Given the description of an element on the screen output the (x, y) to click on. 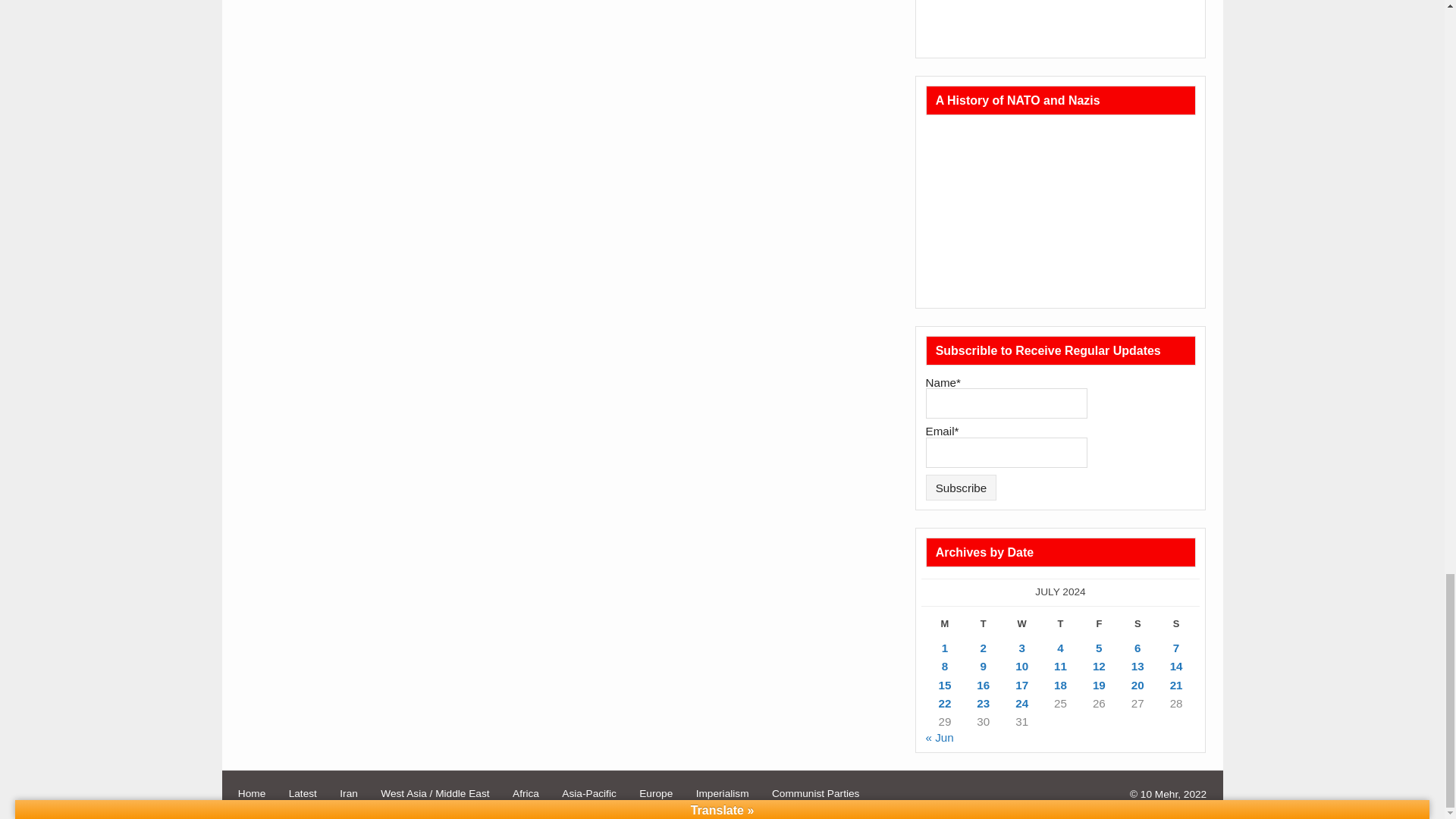
Subscribe (961, 487)
Sunday (1176, 627)
Friday (1099, 627)
Wednesday (1022, 627)
12 (1099, 666)
10 (1020, 666)
Thursday (1060, 627)
Subscribe (961, 487)
Saturday (1137, 627)
Monday (944, 627)
11 (1060, 666)
Tuesday (983, 627)
